Given the description of an element on the screen output the (x, y) to click on. 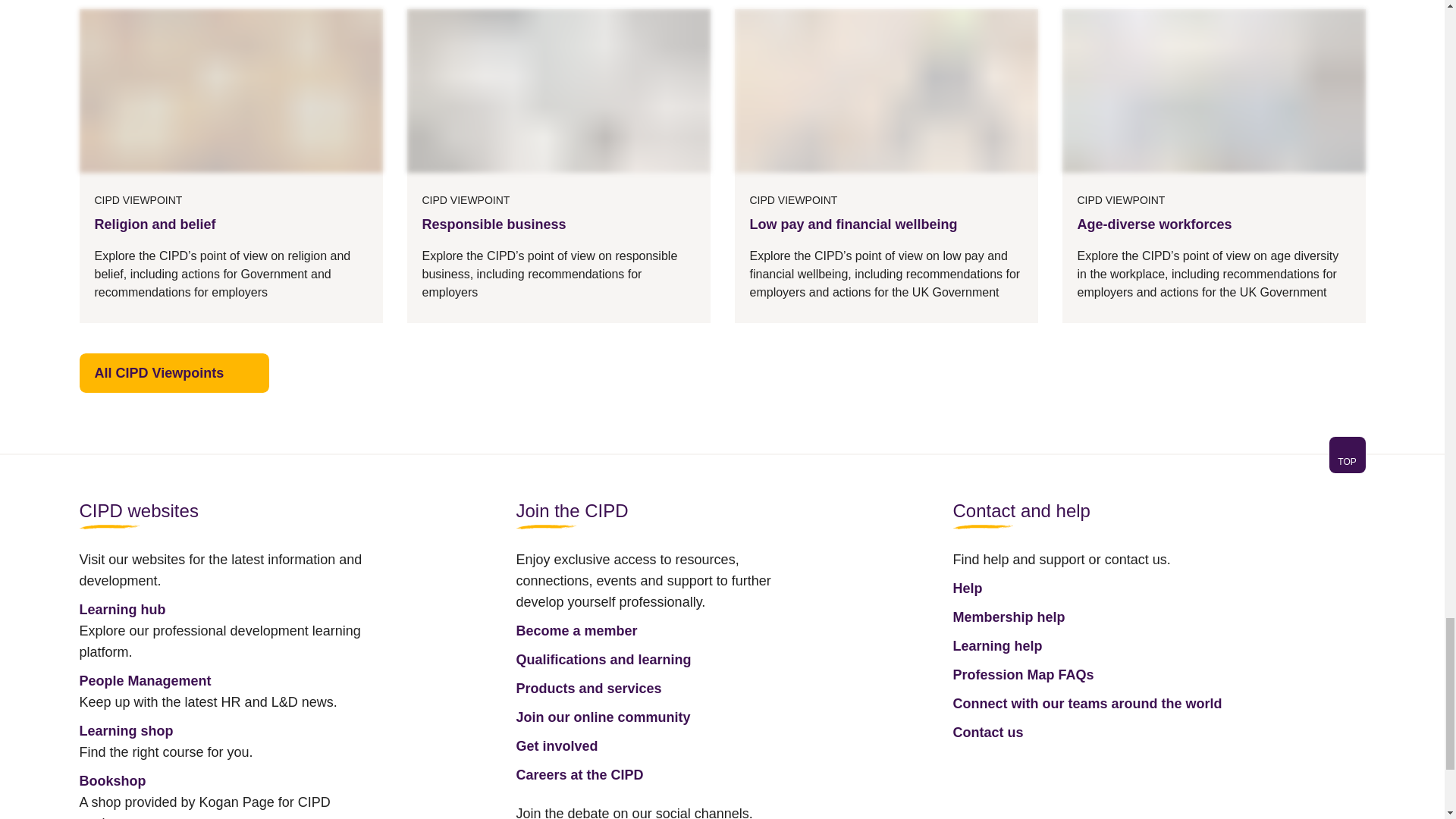
TOP (1346, 461)
TOP (721, 464)
TOP (1346, 454)
